Given the description of an element on the screen output the (x, y) to click on. 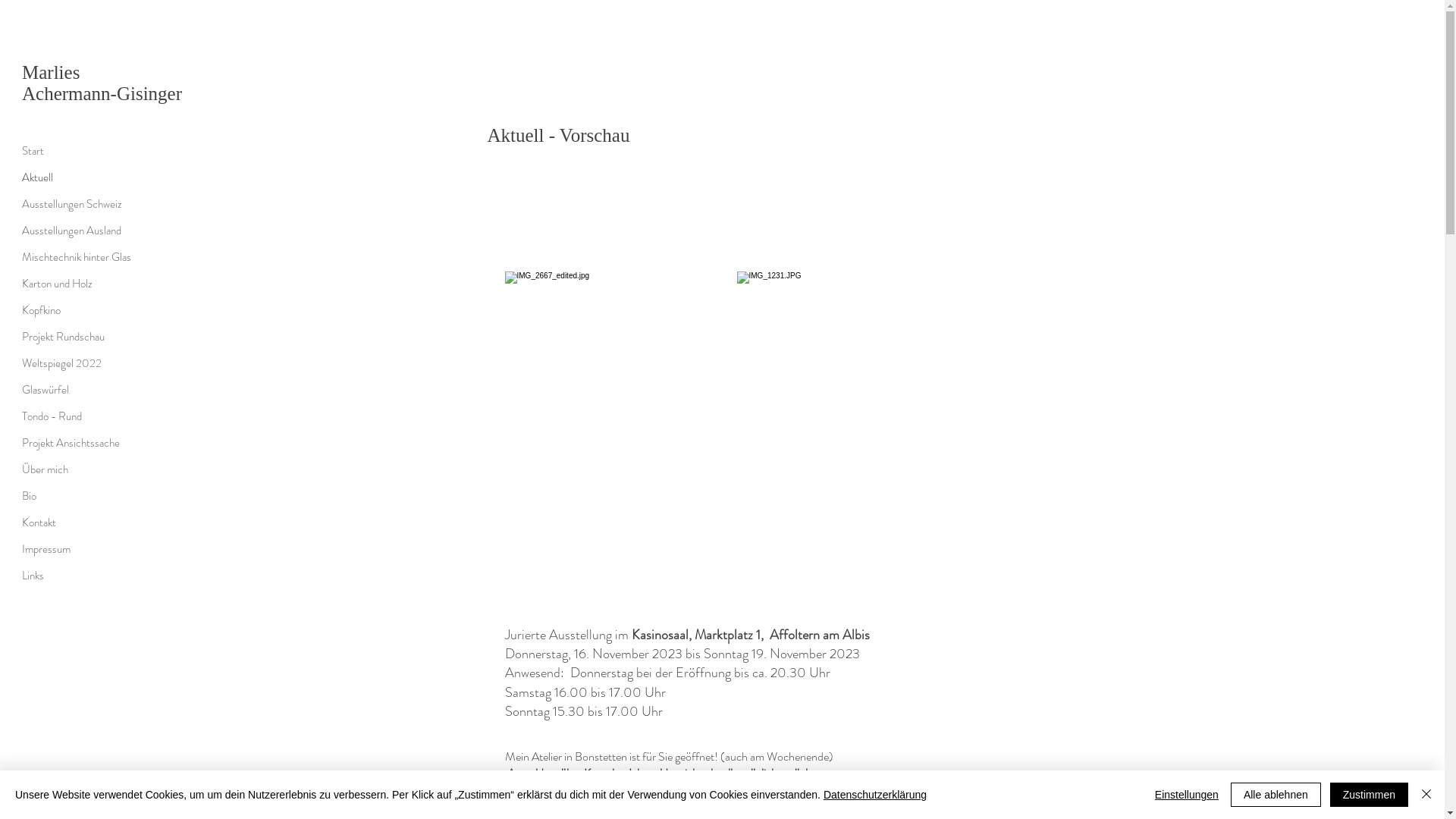
Aktuell Element type: text (79, 177)
Alle ablehnen Element type: text (1275, 794)
Kontakt Element type: text (79, 522)
Zustimmen Element type: text (1369, 794)
Weltspiegel 2022 Element type: text (79, 363)
Bio Element type: text (79, 496)
Karton und Holz Element type: text (79, 283)
Links Element type: text (79, 575)
Projekt Ansichtssache Element type: text (79, 442)
Impressum Element type: text (79, 549)
Ausstellungen Schweiz Element type: text (79, 204)
Start Element type: text (79, 151)
Projekt Rundschau Element type: text (79, 336)
Kopfkino Element type: text (79, 310)
Marlies Element type: text (50, 72)
Tondo - Rund Element type: text (79, 416)
Ausstellungen Ausland Element type: text (79, 230)
Mischtechnik hinter Glas Element type: text (79, 257)
